Given the description of an element on the screen output the (x, y) to click on. 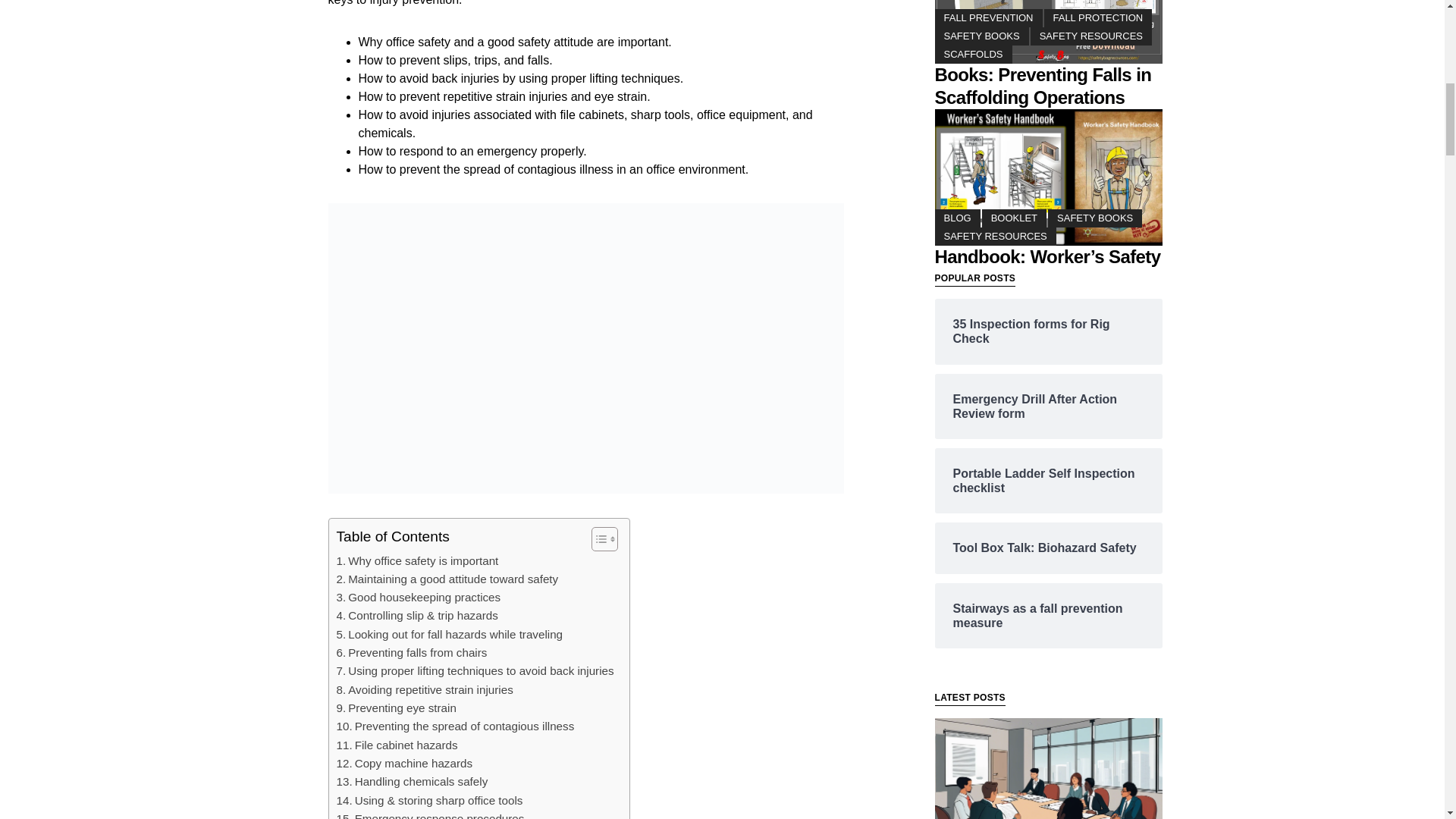
Good housekeeping practices (418, 597)
Maintaining a good attitude toward safety (447, 579)
Looking out for fall hazards while traveling (449, 634)
Why office safety is important (417, 561)
